Given the description of an element on the screen output the (x, y) to click on. 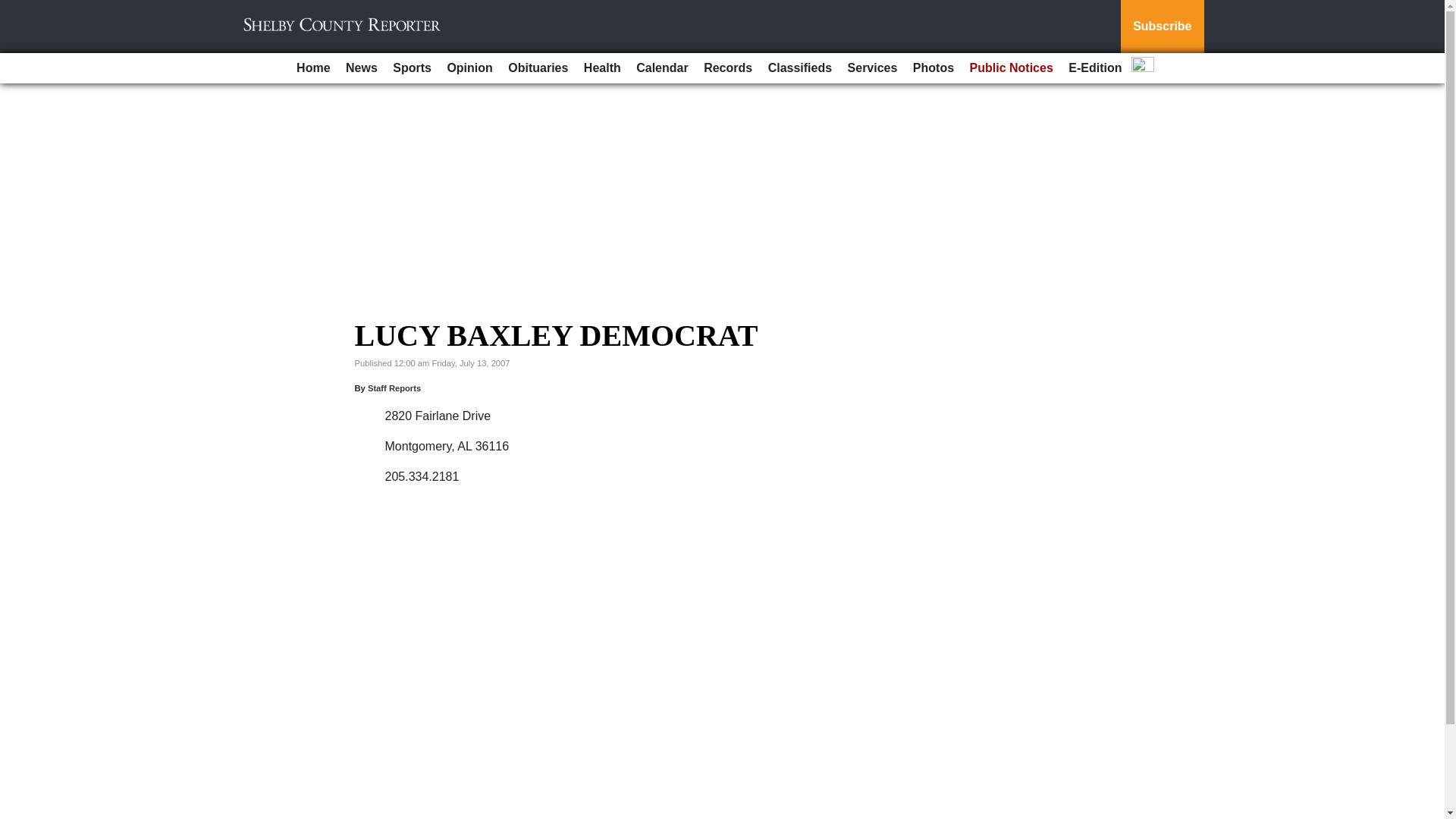
Subscribe (1162, 26)
Classifieds (799, 68)
Home (312, 68)
Calendar (662, 68)
Services (872, 68)
Records (727, 68)
Health (602, 68)
News (361, 68)
Obituaries (537, 68)
Sports (412, 68)
